Given the description of an element on the screen output the (x, y) to click on. 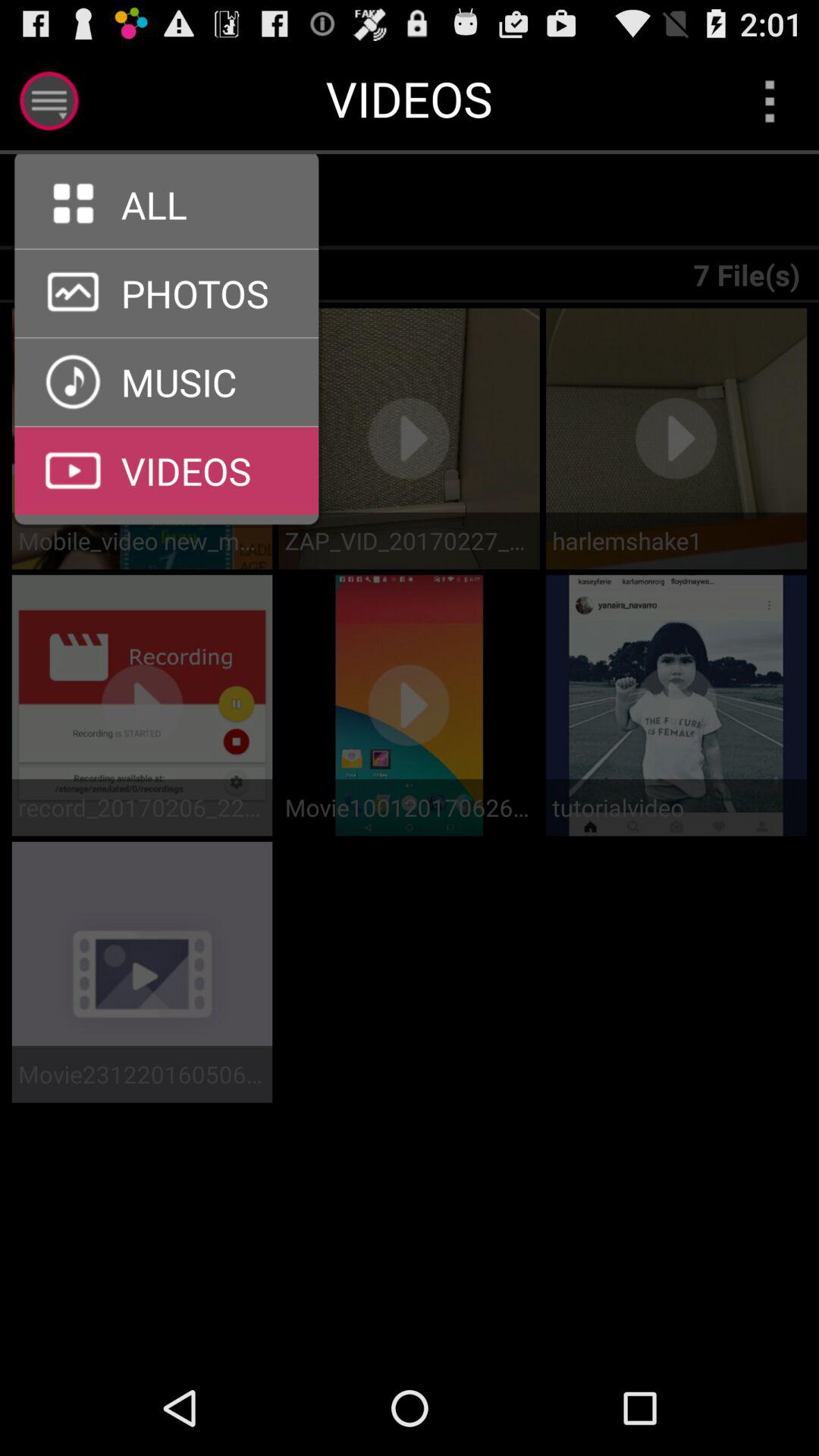
open all portion of menu (166, 248)
